Given the description of an element on the screen output the (x, y) to click on. 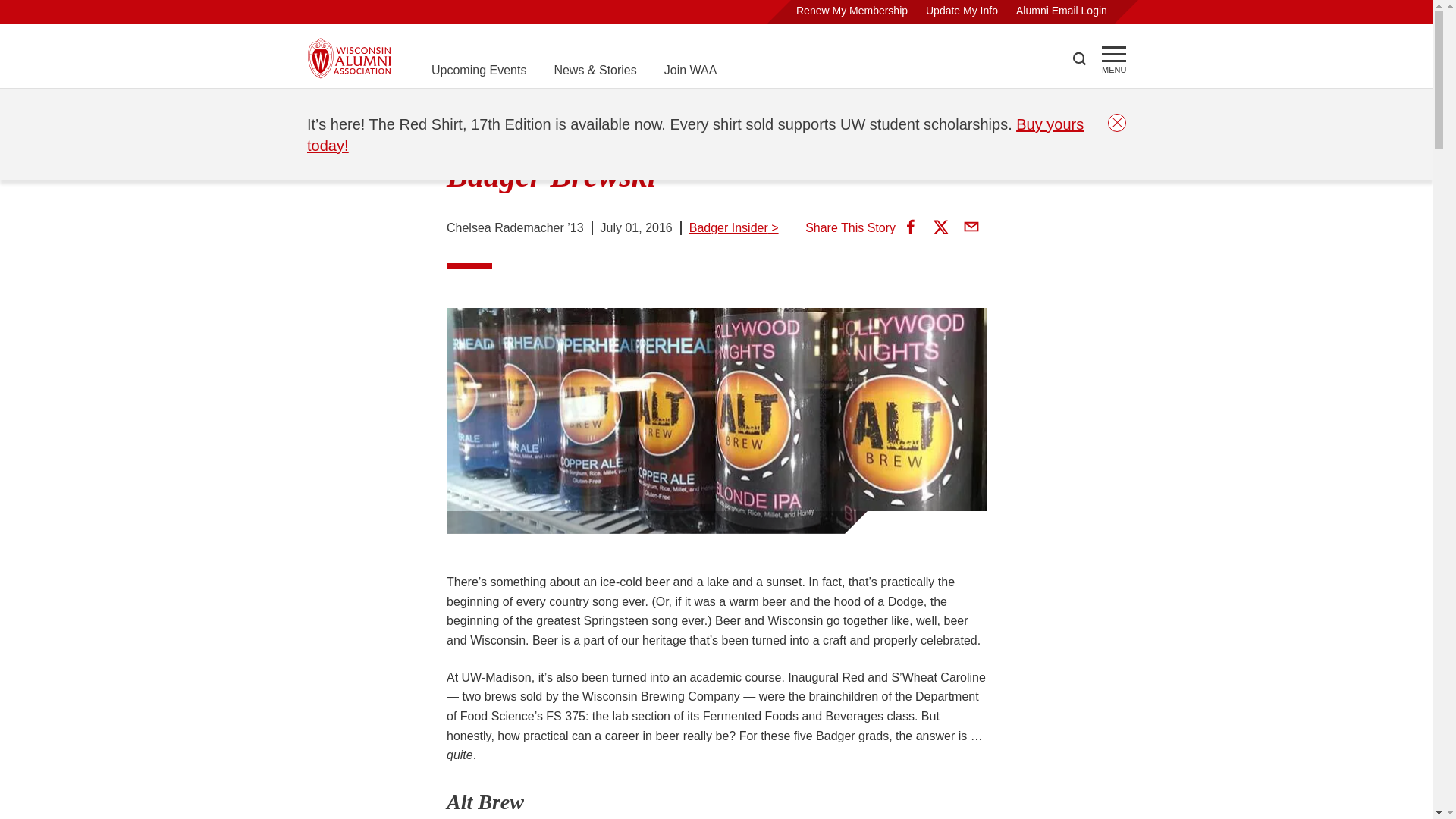
Upcoming Events (477, 70)
Renew My Membership (851, 10)
Alumni Email Login (1061, 10)
Badger Insider (468, 107)
Home (322, 107)
Join WAA (690, 70)
Update My Info (961, 10)
